Given the description of an element on the screen output the (x, y) to click on. 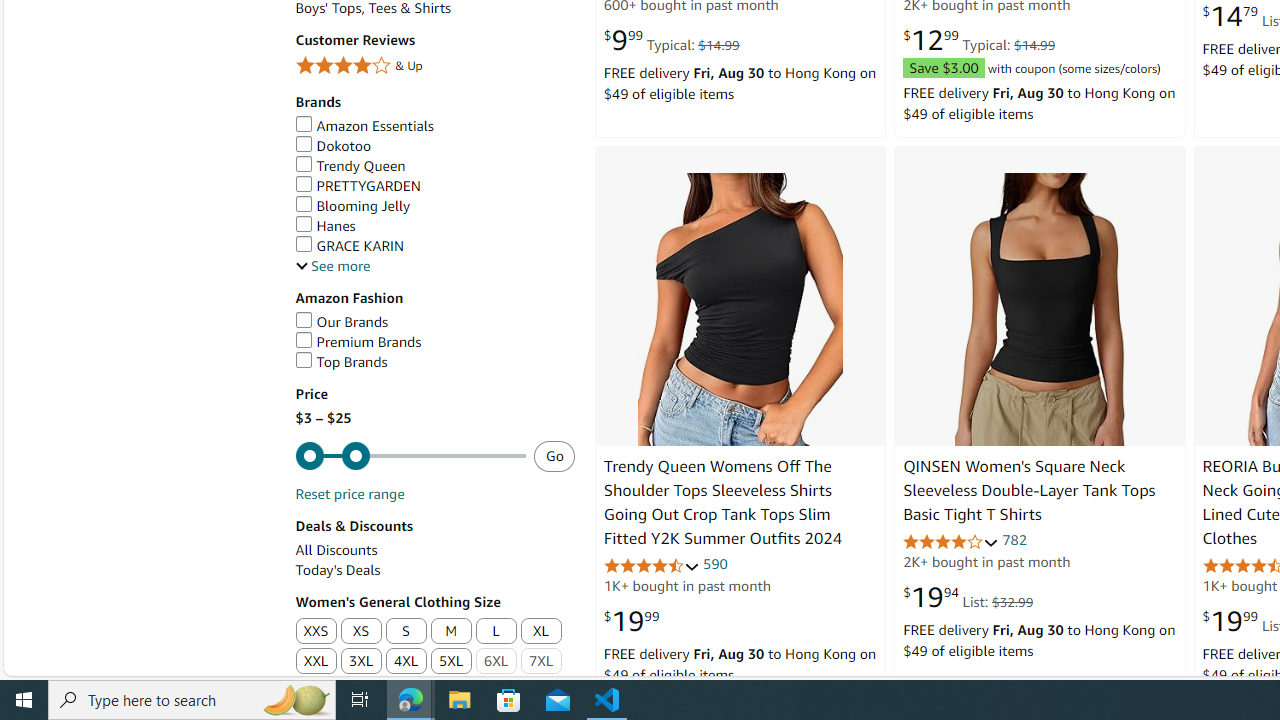
Go back to filtering menu (84, 666)
Today's Deals (434, 570)
5XL (451, 661)
Reset price range (349, 494)
Amazon Essentials (434, 126)
Our Brands (341, 321)
GRACE KARIN (434, 246)
Trendy Queen (349, 165)
4 Stars & Up& Up (434, 67)
All Discounts (434, 550)
All Discounts (335, 550)
$19.99 (631, 621)
Boys' Tops, Tees & Shirts (434, 8)
